Given the description of an element on the screen output the (x, y) to click on. 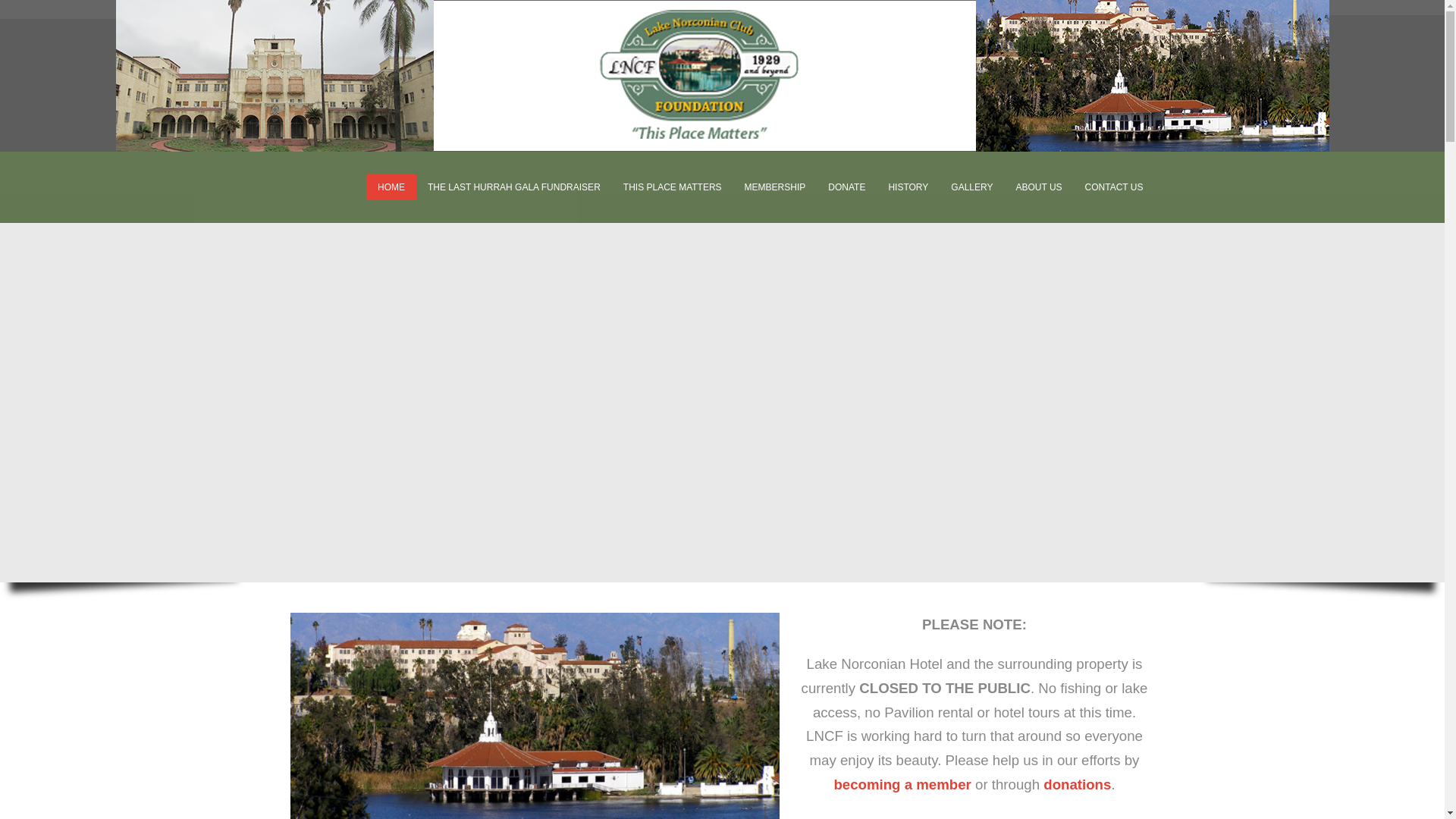
DONATE (846, 186)
THIS PLACE MATTERS (672, 186)
HOME (391, 186)
MEMBERSHIP (774, 186)
CONTACT US (1114, 186)
ABOUT US (1038, 186)
GALLERY (971, 186)
donations (1076, 784)
becoming a member (901, 784)
THE LAST HURRAH GALA FUNDRAISER (513, 186)
HISTORY (907, 186)
